Given the description of an element on the screen output the (x, y) to click on. 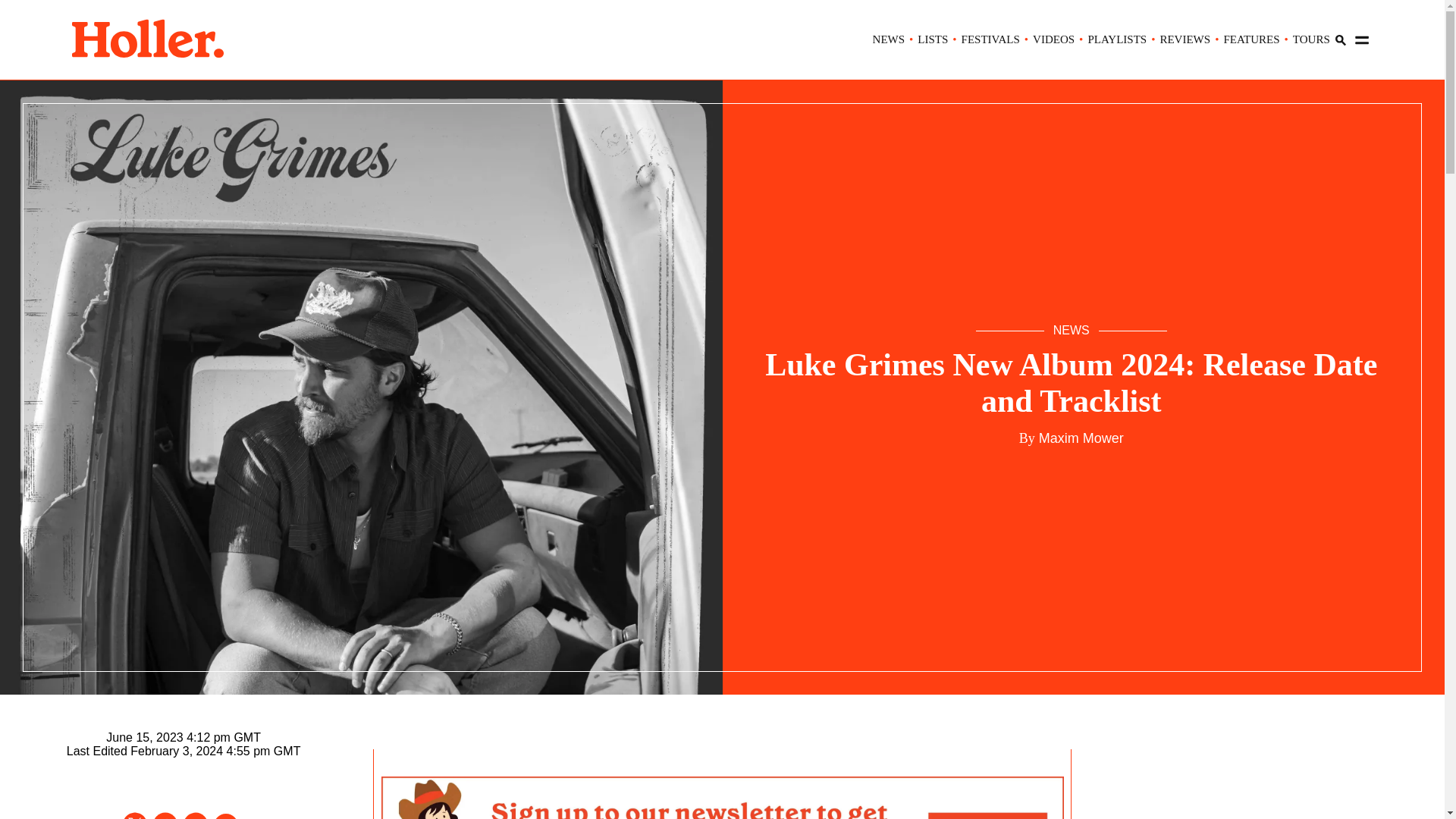
Maxim Mower (1079, 437)
VIDEOS (1053, 39)
FESTIVALS (990, 39)
NEWS (888, 39)
PLAYLISTS (1117, 39)
TOURS (1311, 39)
REVIEWS (1183, 39)
FEATURES (1251, 39)
LISTS (932, 39)
